Given the description of an element on the screen output the (x, y) to click on. 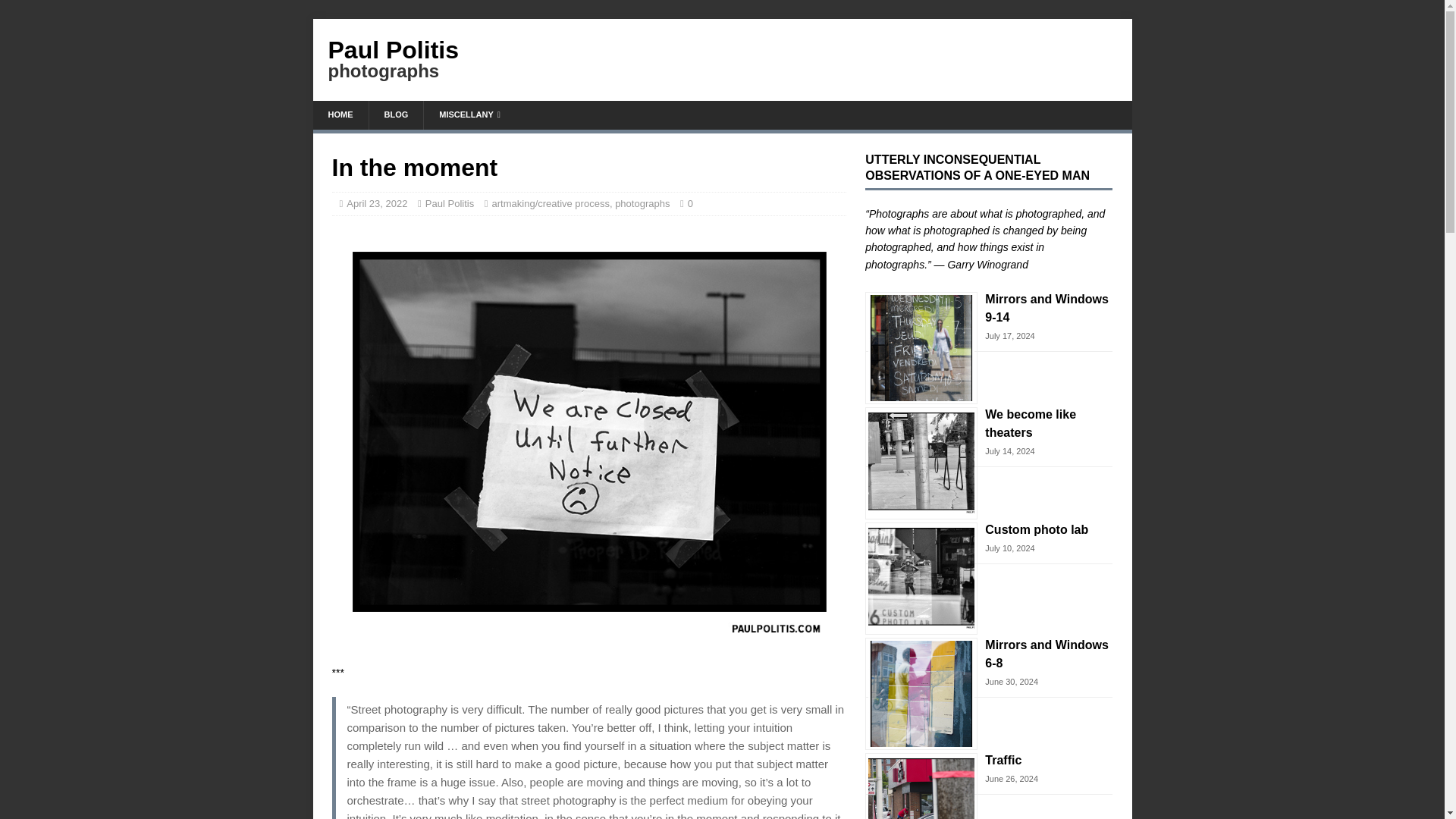
BLOG (721, 58)
photographs (395, 114)
Paul Politis (641, 203)
HOME (721, 58)
MISCELLANY (340, 114)
Paul Politis (469, 114)
April 23, 2022 (449, 203)
